Given the description of an element on the screen output the (x, y) to click on. 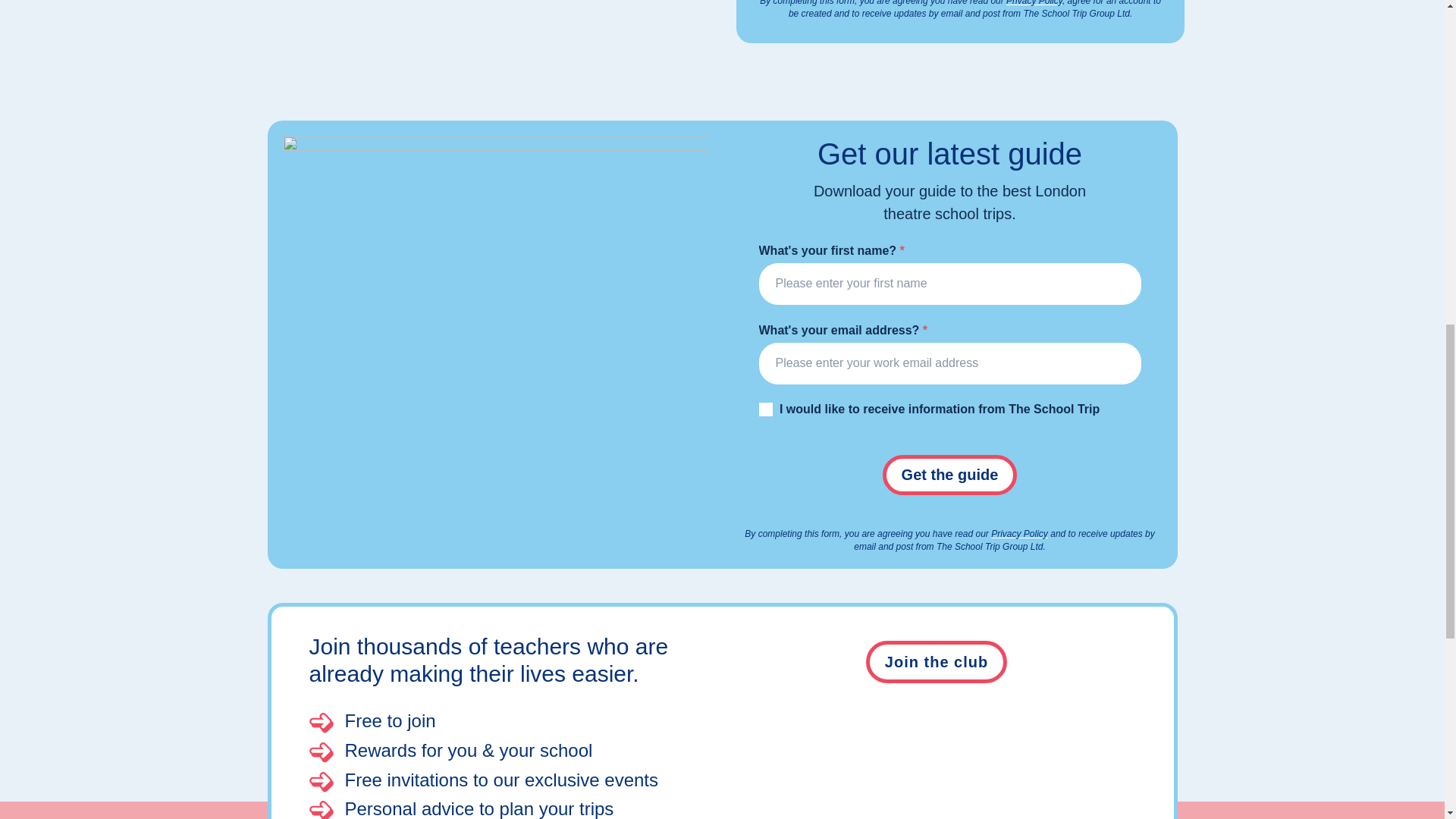
Privacy Policy (1019, 533)
Privacy Policy (1034, 2)
Get the guide (949, 475)
I would like to receive information from The School Trip (764, 409)
Join the club (936, 661)
The School Trip London Theatre Guide Summer 2024 1000x500 (494, 241)
